Given the description of an element on the screen output the (x, y) to click on. 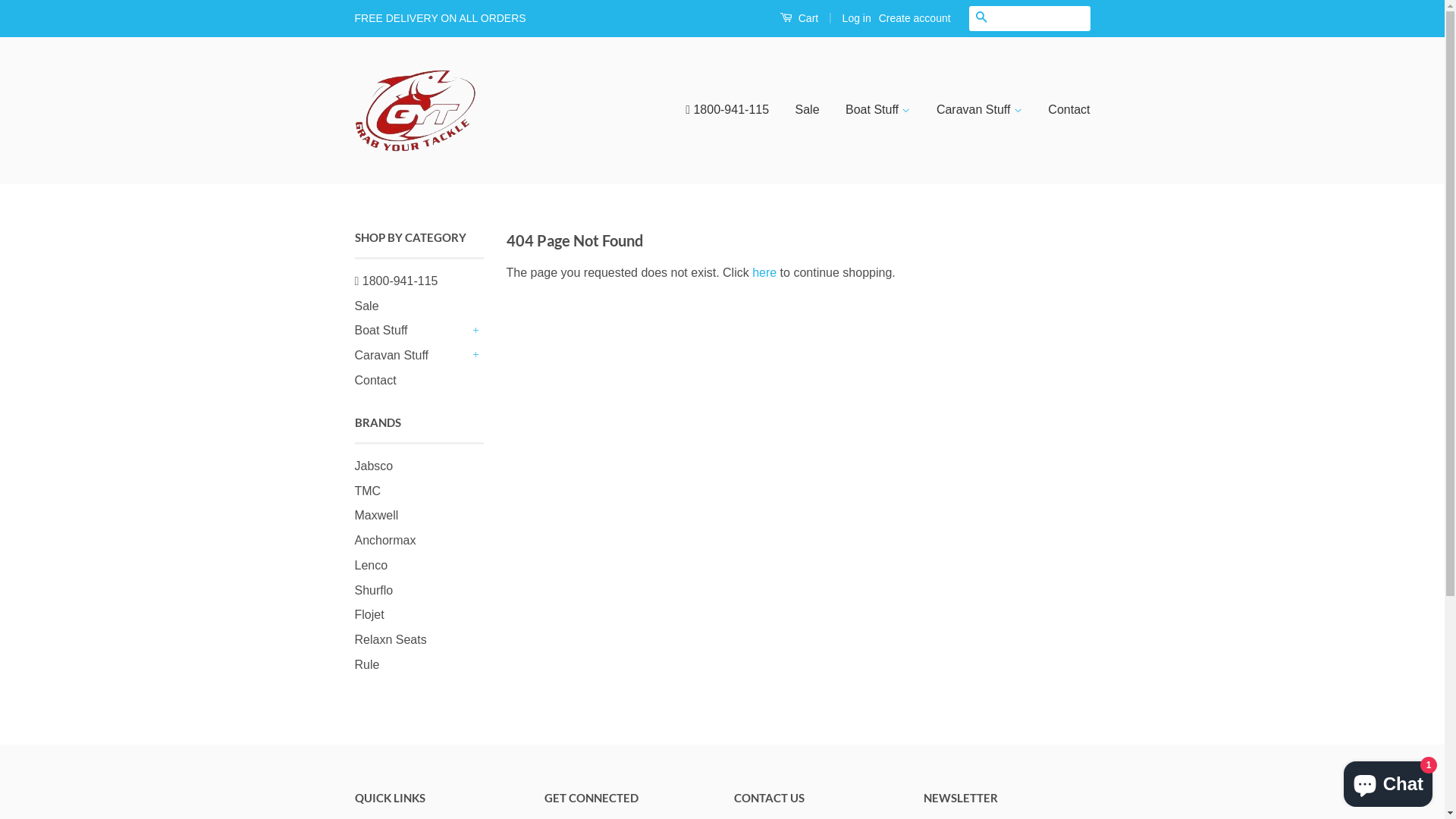
Flojet Element type: text (369, 614)
here Element type: text (764, 272)
Relaxn Seats Element type: text (390, 639)
Boat Stuff Element type: text (411, 331)
Shopify online store chat Element type: hover (1388, 780)
Lenco Element type: text (371, 564)
Caravan Stuff Element type: text (979, 109)
Maxwell Element type: text (376, 514)
Contact Element type: text (375, 379)
TMC Element type: text (367, 489)
Sale Element type: text (366, 305)
Rule Element type: text (366, 664)
Jabsco Element type: text (373, 465)
Sale Element type: text (807, 109)
Create account Element type: text (914, 18)
Contact Element type: text (1062, 109)
Log in Element type: text (856, 18)
Cart Element type: text (798, 17)
+ Element type: text (475, 330)
Boat Stuff Element type: text (877, 109)
Shurflo Element type: text (373, 589)
+ Element type: text (475, 356)
Caravan Stuff Element type: text (411, 356)
Anchormax Element type: text (385, 539)
Search Element type: text (981, 18)
